Given the description of an element on the screen output the (x, y) to click on. 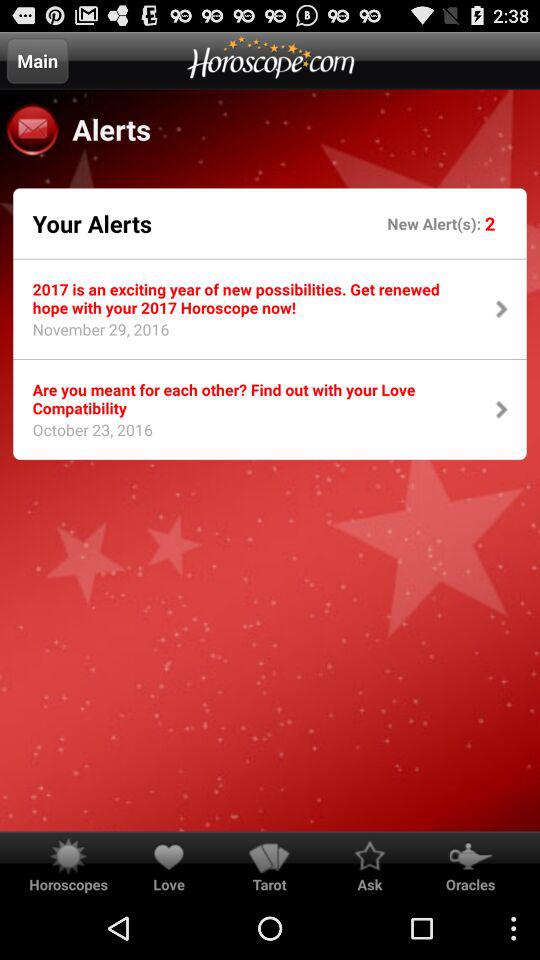
click the 2 icon (489, 222)
